Given the description of an element on the screen output the (x, y) to click on. 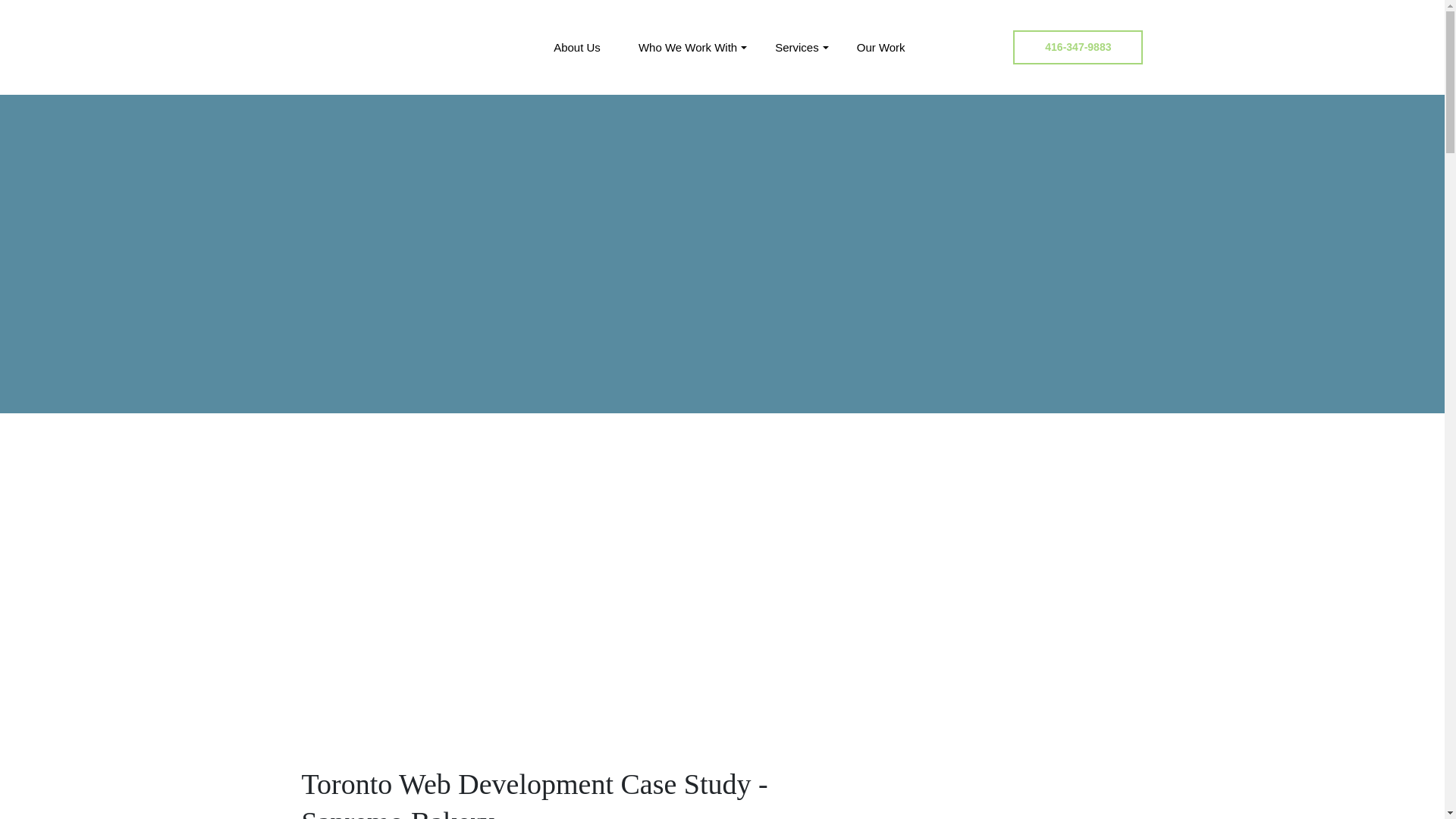
About Us (576, 46)
Our Work (881, 46)
Who We Work With (687, 46)
Services (796, 46)
416-347-9883 (1077, 47)
